Given the description of an element on the screen output the (x, y) to click on. 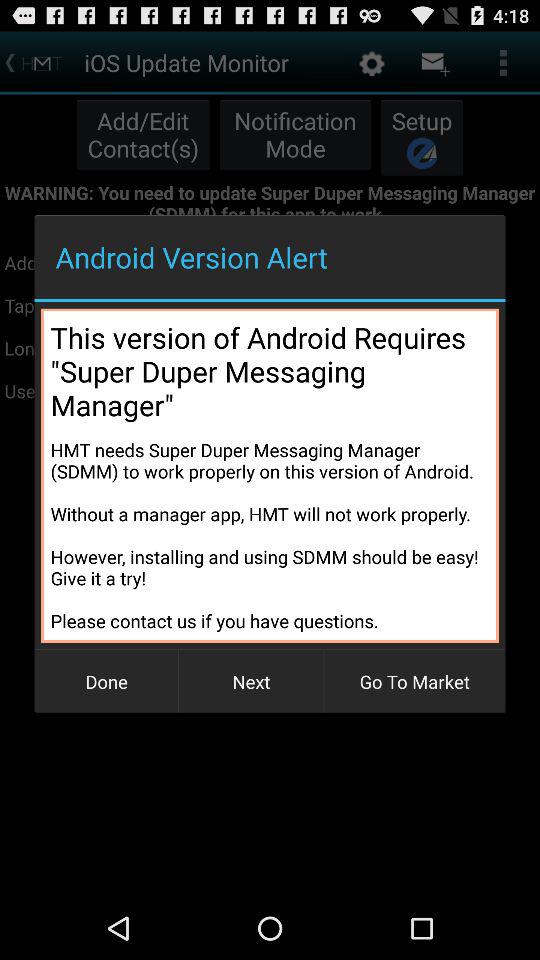
tap the button to the left of next item (106, 681)
